Given the description of an element on the screen output the (x, y) to click on. 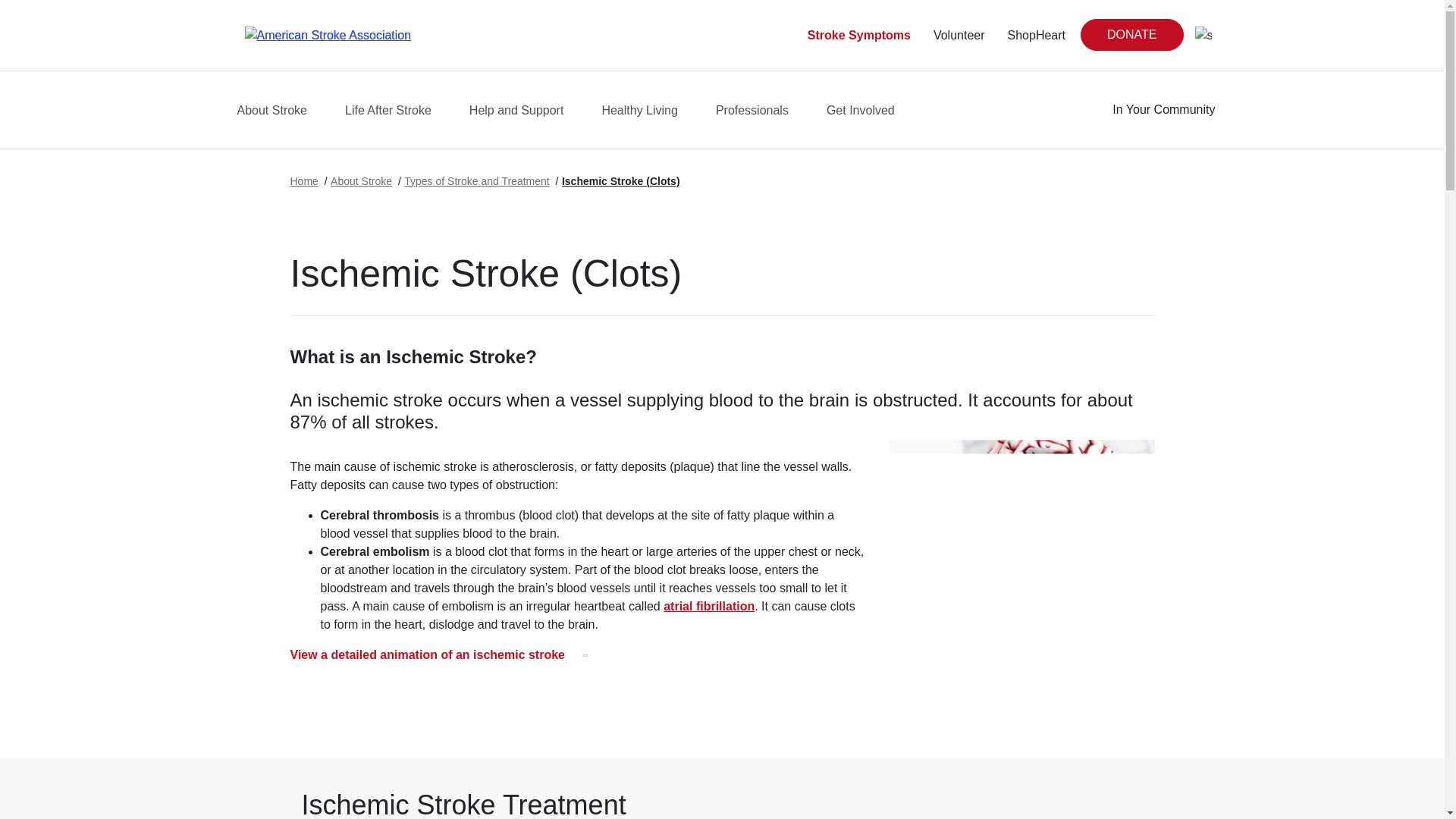
atrial fibrillation (708, 605)
Volunteer (959, 35)
Home (303, 181)
ShopHeart (1036, 35)
View a detailed animation of an ischemic stroke (438, 655)
About Stroke (360, 181)
Stroke Symptoms (859, 35)
Types of Stroke and Treatment (476, 181)
Illustration of a stroke (1021, 572)
DONATE (1131, 34)
